Given the description of an element on the screen output the (x, y) to click on. 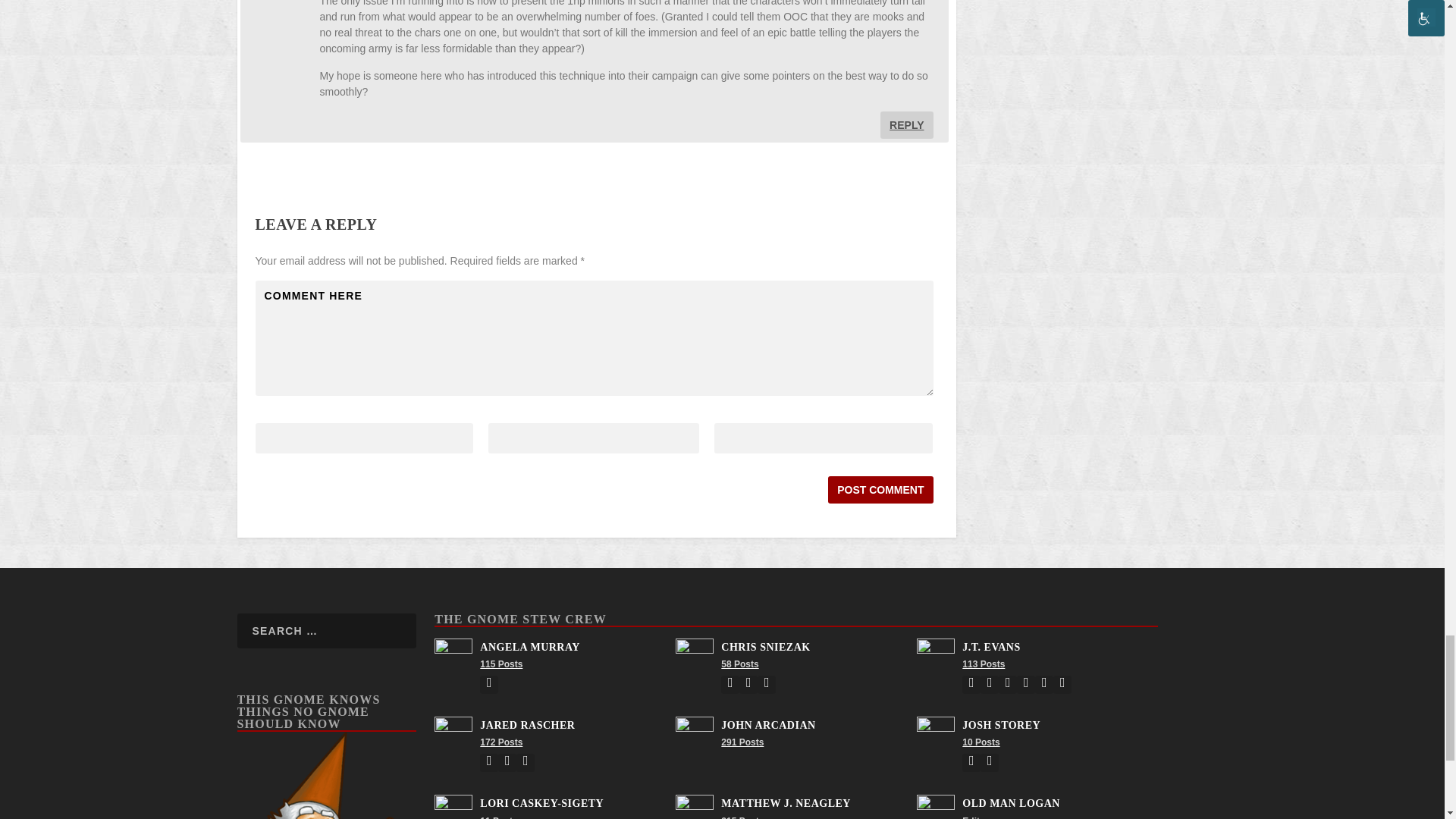
Post Comment (880, 489)
